Given the description of an element on the screen output the (x, y) to click on. 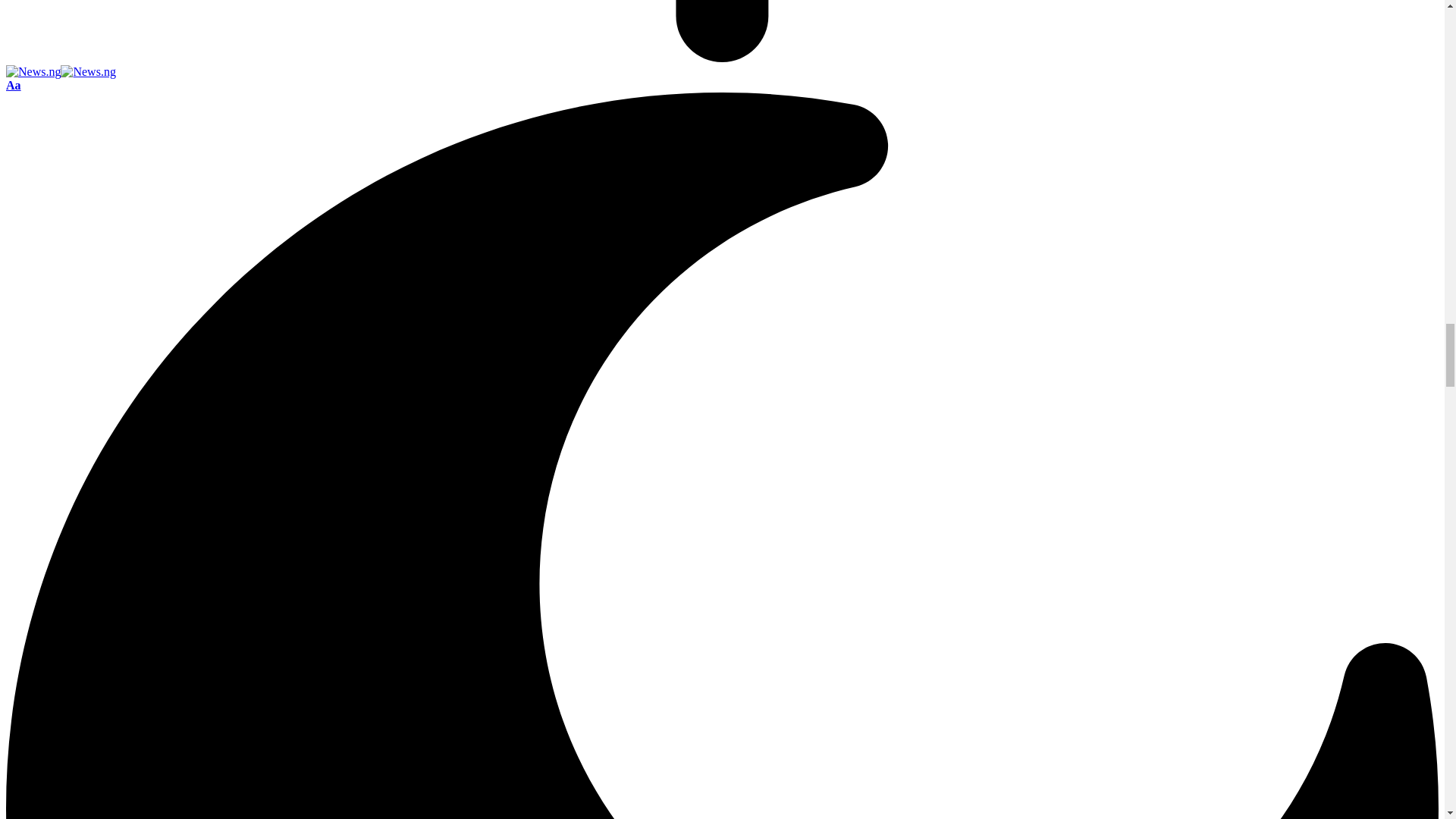
News.ng (60, 71)
